Given the description of an element on the screen output the (x, y) to click on. 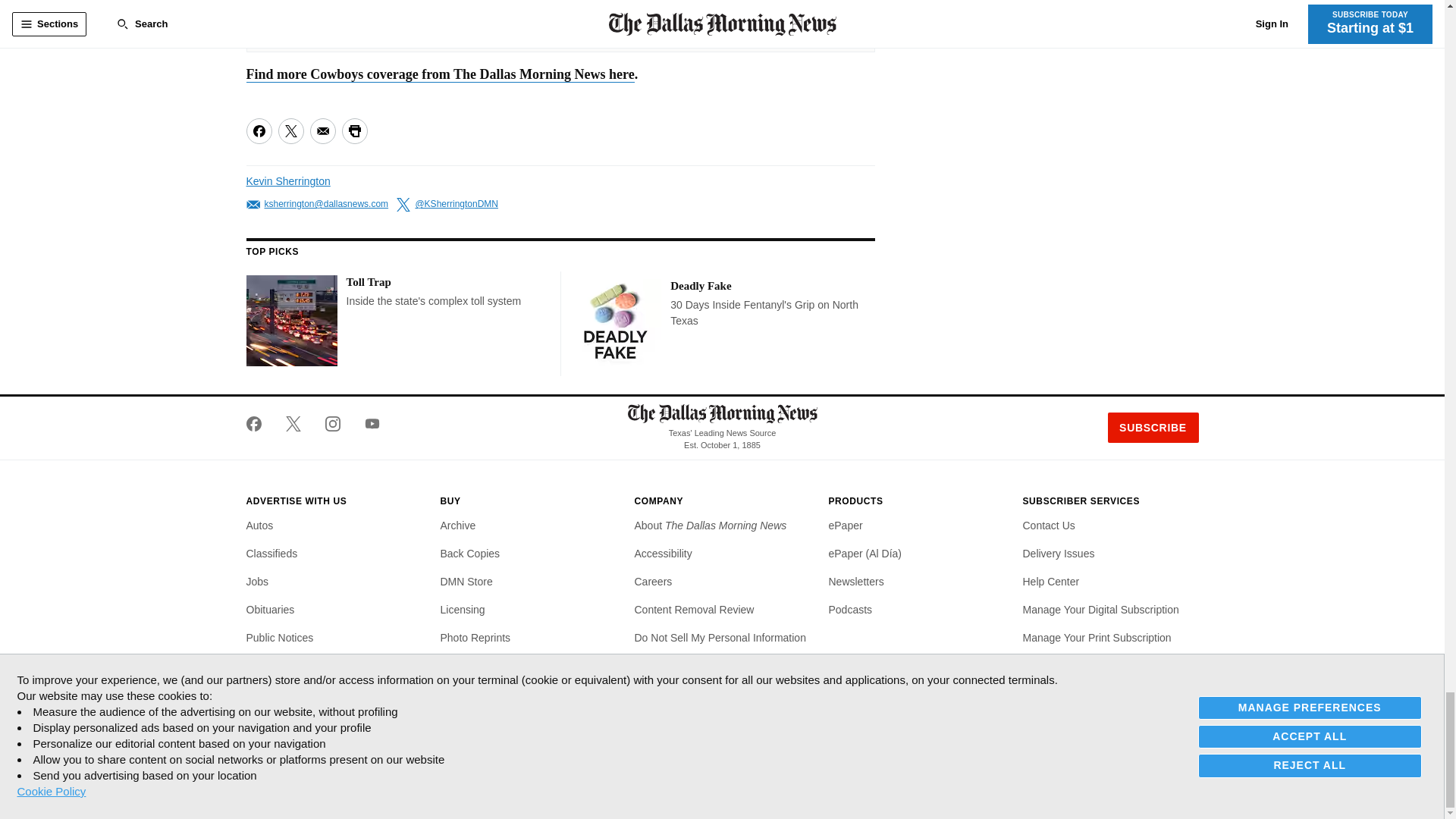
Share on Facebook (258, 130)
The Dallas Morning News on Twitter (293, 423)
Share on Twitter (290, 130)
The Dallas Morning News on Instagram (332, 423)
Print (353, 130)
The Dallas Morning News on Facebook (259, 423)
Share via Email (321, 130)
The Dallas Morning News on YouTube (365, 423)
